Given the description of an element on the screen output the (x, y) to click on. 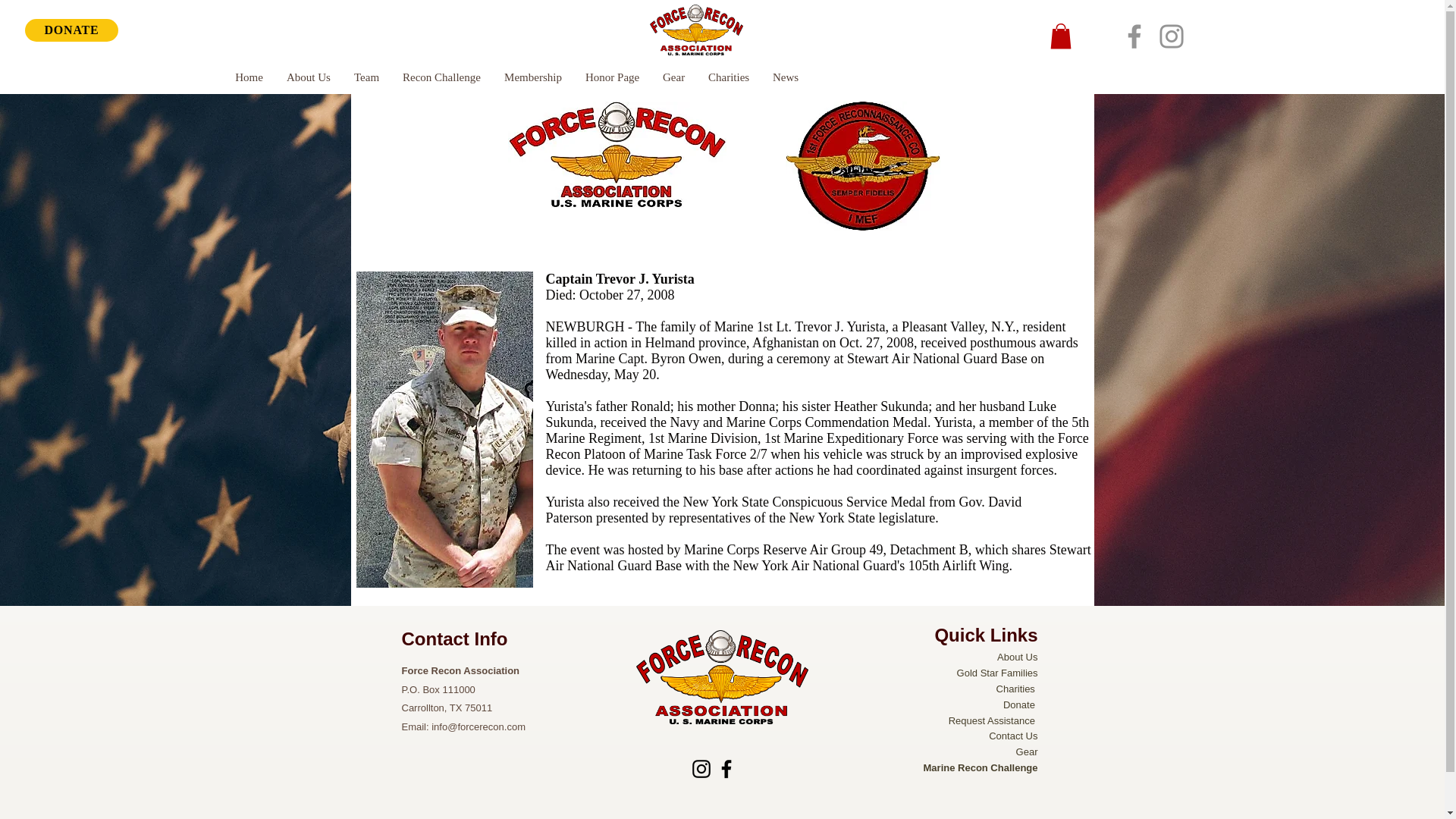
DONATE (70, 29)
Recon Challenge (441, 77)
Charities (727, 77)
Team (366, 77)
Membership (532, 77)
Honor Page (611, 77)
About Us (1016, 656)
News (784, 77)
Gear (672, 77)
Home (248, 77)
